Given the description of an element on the screen output the (x, y) to click on. 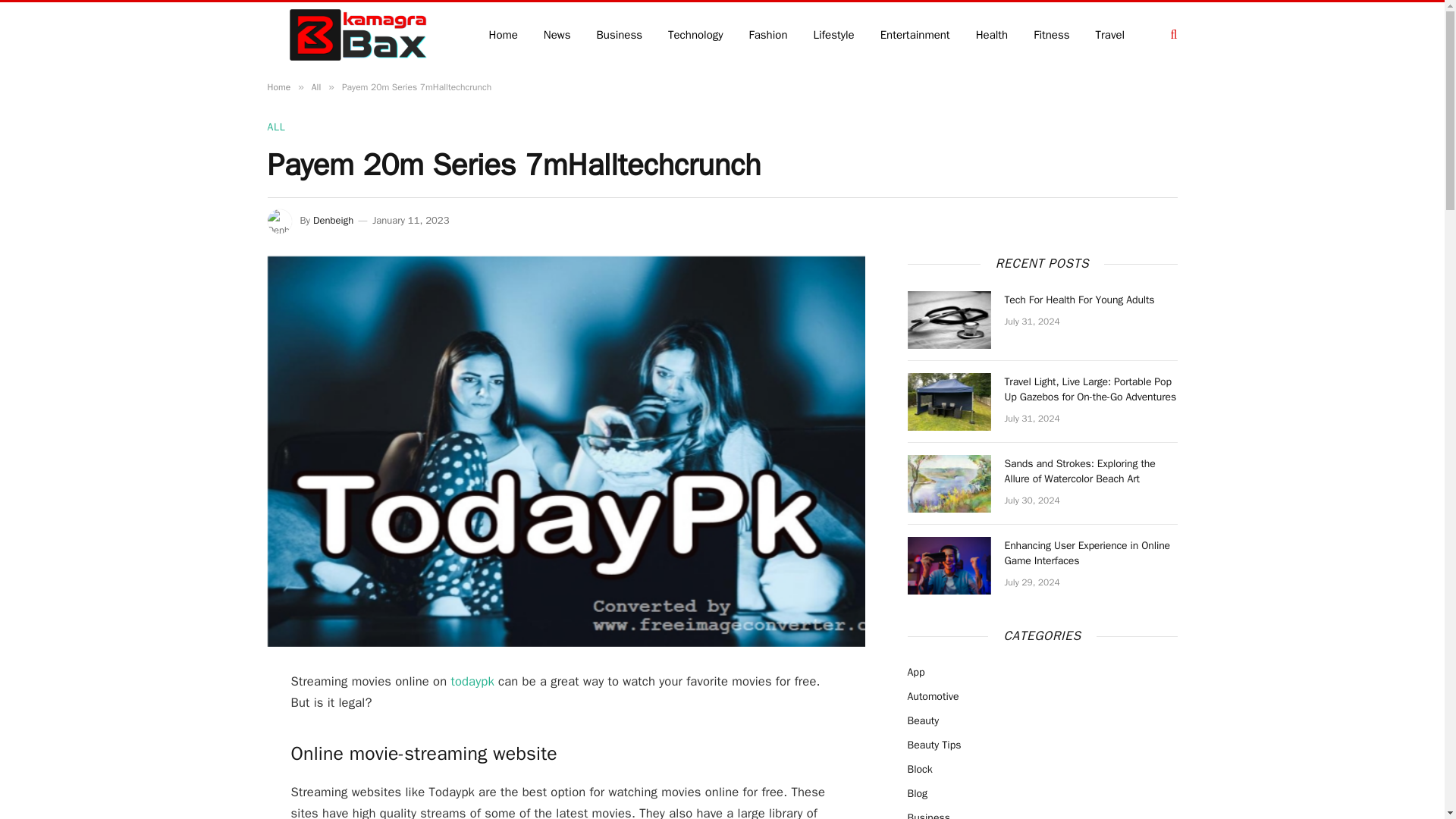
Business (619, 34)
Health (992, 34)
Kamagrabax.com (357, 34)
Fashion (768, 34)
Posts by Denbeigh (333, 219)
Home (277, 87)
ALL (275, 126)
Lifestyle (832, 34)
todaypk (472, 681)
